Given the description of an element on the screen output the (x, y) to click on. 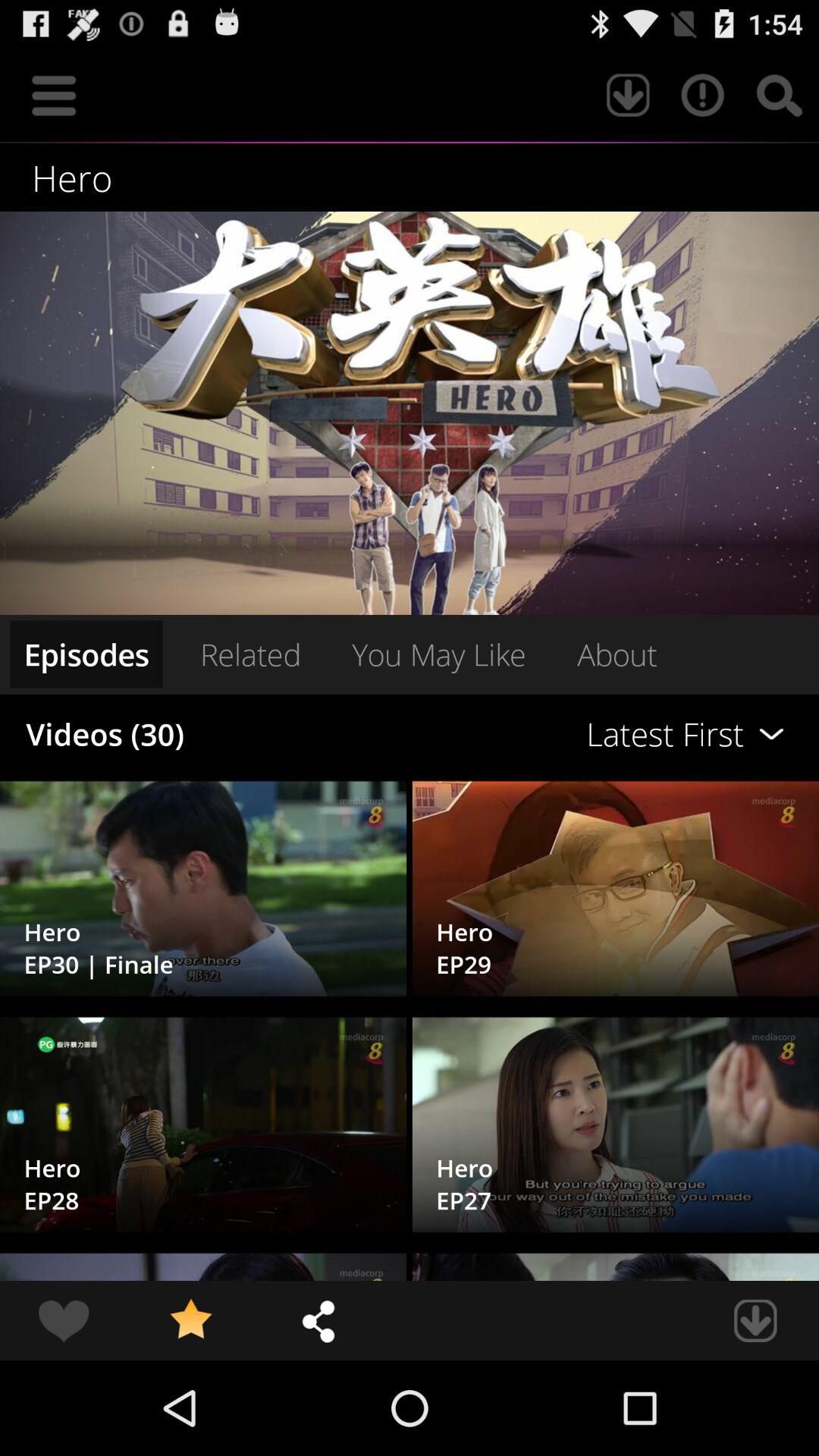
open the item to the right of related (560, 734)
